Given the description of an element on the screen output the (x, y) to click on. 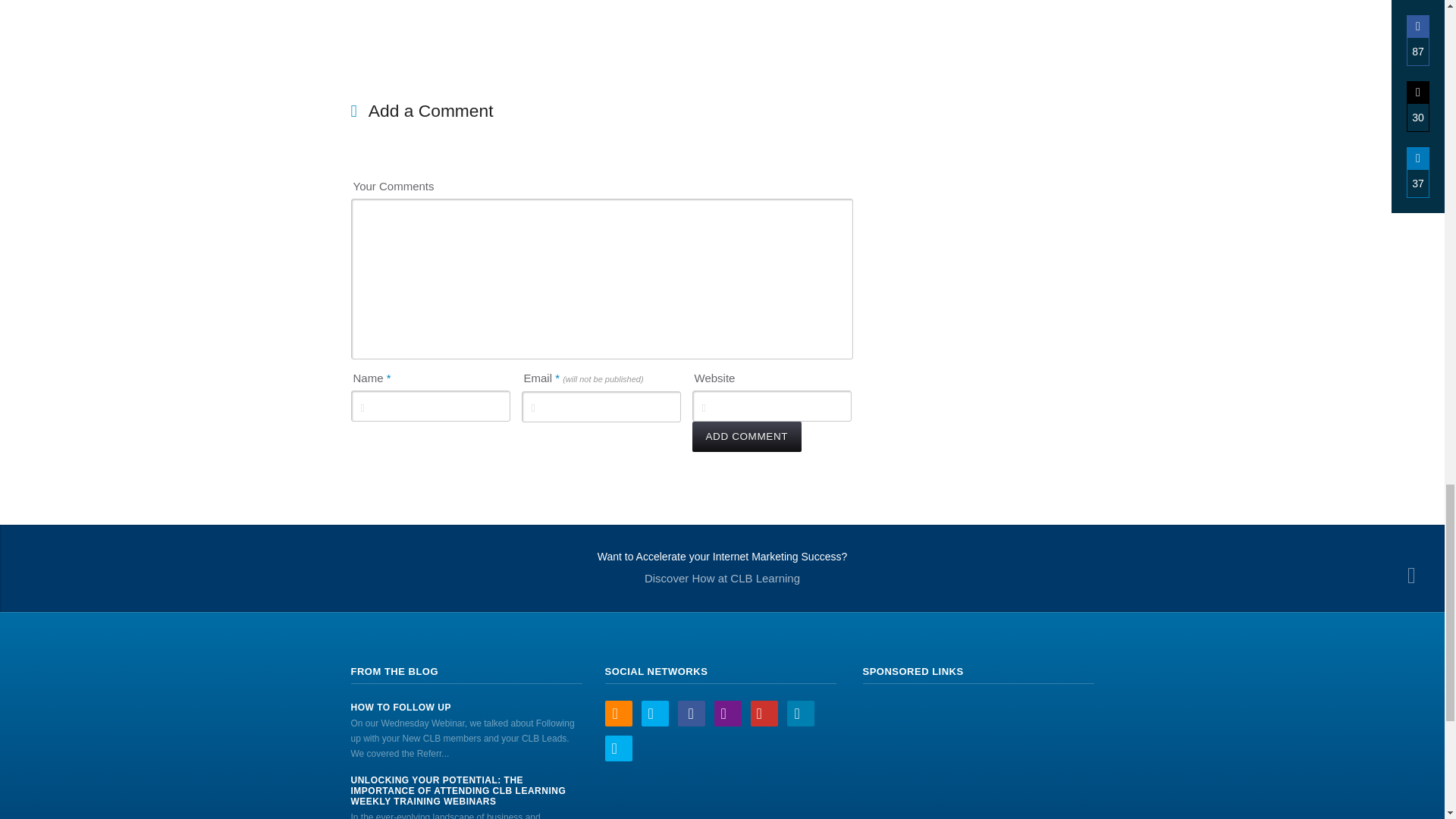
Facebook (691, 713)
YouTube (764, 713)
RSS Feed (618, 713)
RSS (618, 713)
Twitter (655, 713)
Email (727, 713)
Skype (618, 748)
Add Comment (746, 436)
Twitter (655, 713)
Add Comment (746, 436)
HOW TO FOLLOW UP (465, 706)
LinkedIn (800, 713)
